Given the description of an element on the screen output the (x, y) to click on. 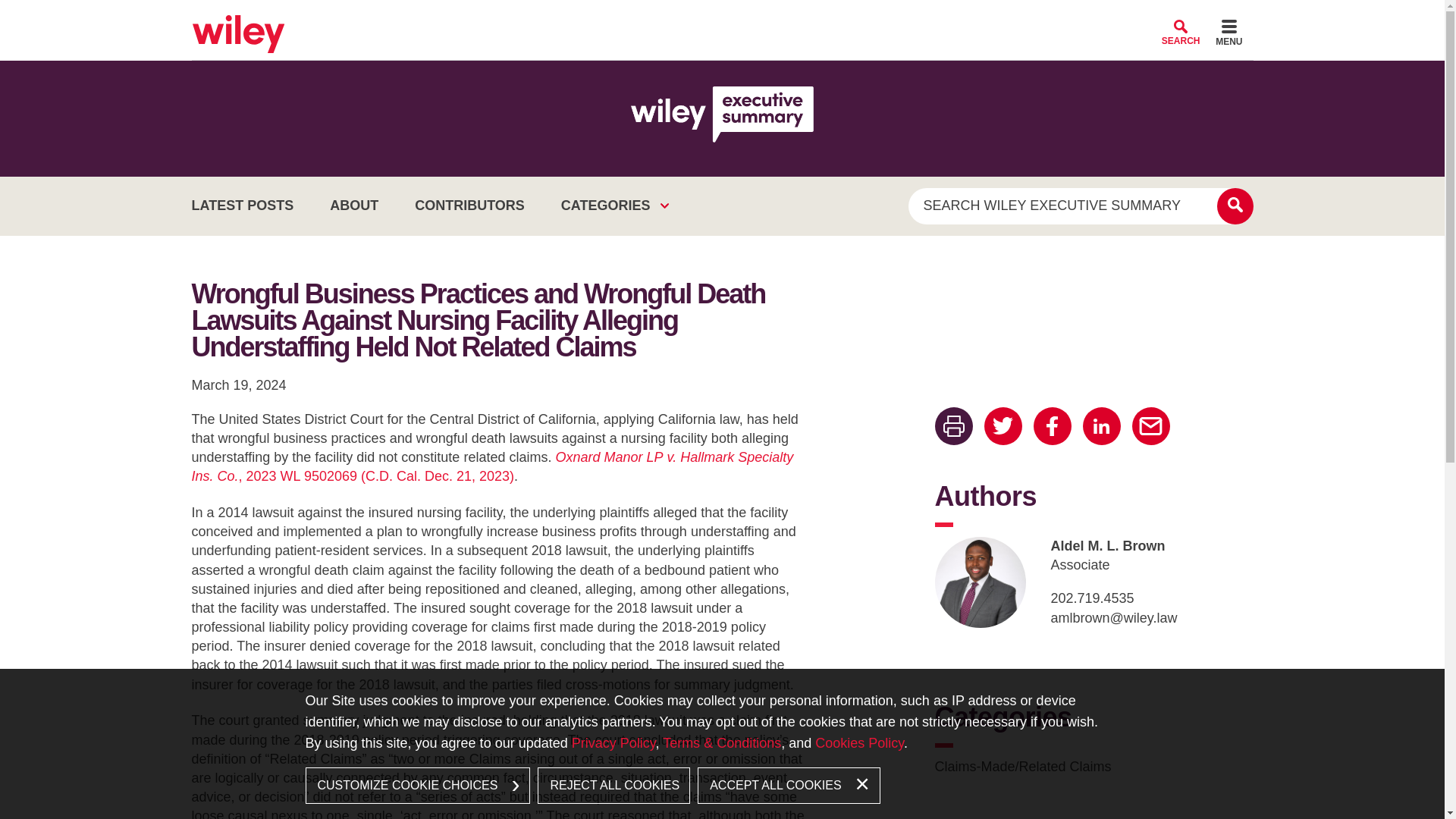
Main Menu (676, 17)
Menu (1228, 34)
Twitter (1003, 426)
Facebook (1051, 426)
SEARCH (1180, 32)
Print (953, 426)
LinkedIn (1102, 426)
Main Content (669, 17)
MENU (1228, 34)
Email (1150, 426)
Menu (676, 17)
